Given the description of an element on the screen output the (x, y) to click on. 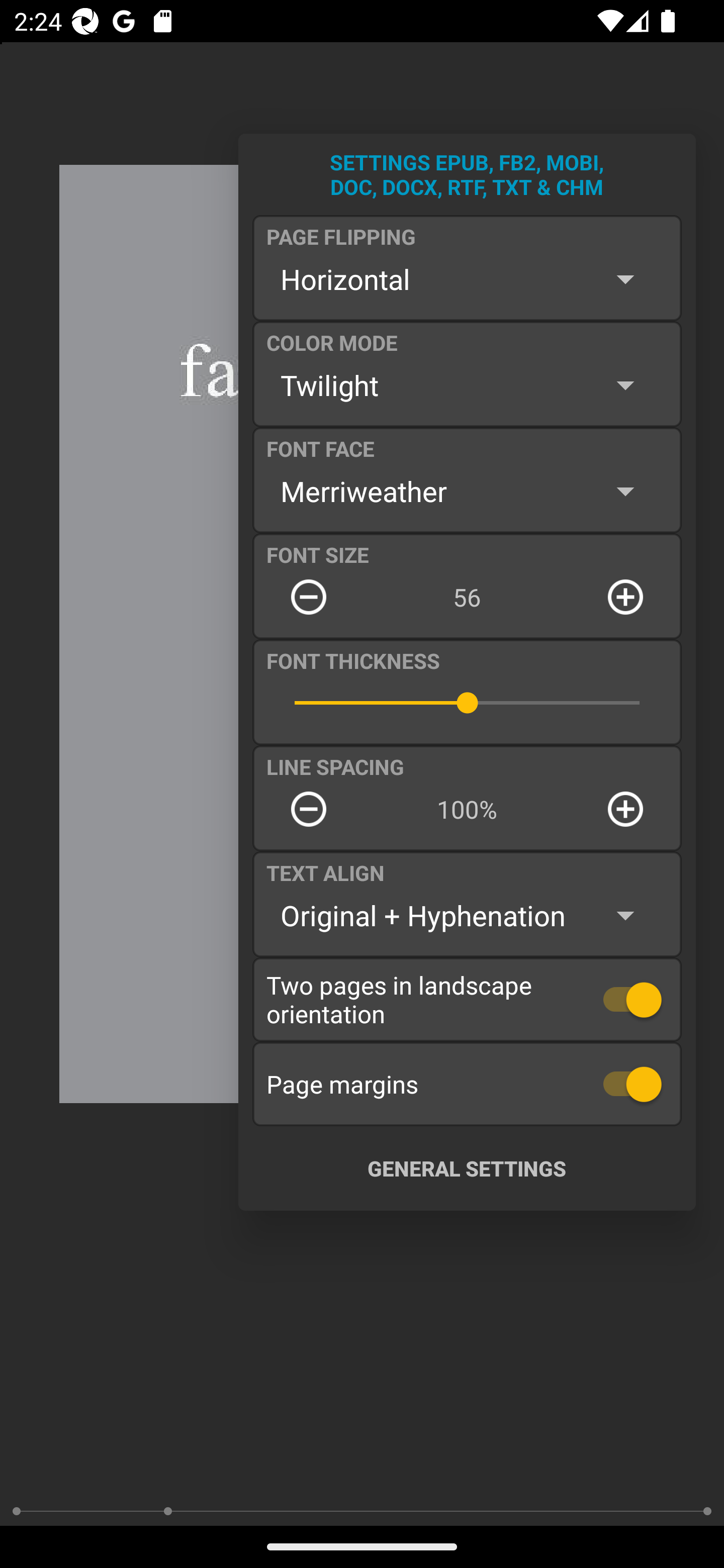
Horizontal (466, 278)
Twilight (466, 384)
Merriweather (466, 490)
Original + Hyphenation (466, 915)
Two pages in landscape orientation (467, 999)
Page margins (467, 1083)
GENERAL SETTINGS (466, 1167)
